Given the description of an element on the screen output the (x, y) to click on. 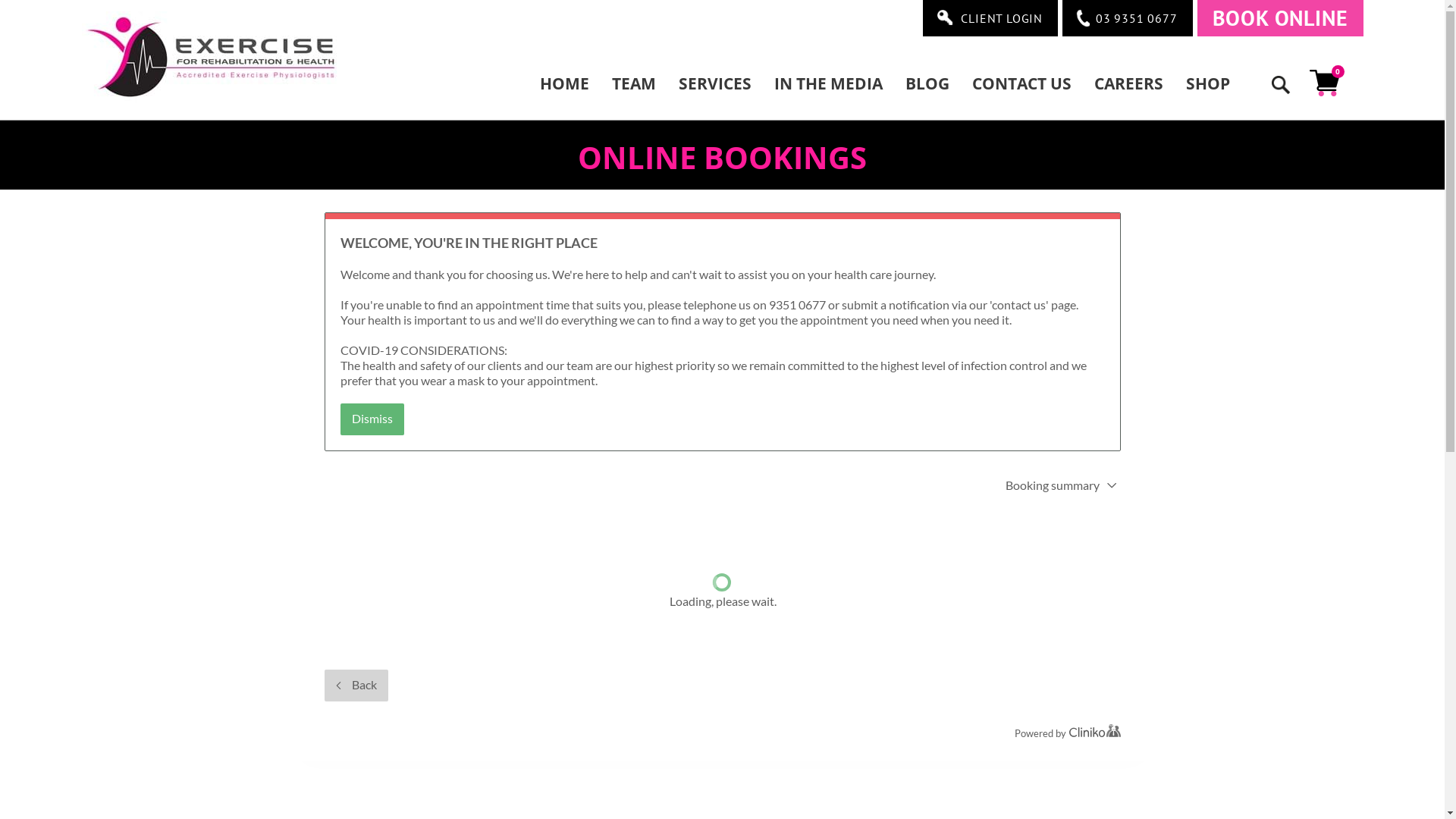
TEAM Element type: text (633, 83)
CONTACT US Element type: text (1021, 83)
SERVICES Element type: text (714, 83)
0 Element type: text (1325, 82)
SHOP Element type: text (1206, 83)
IN THE MEDIA Element type: text (828, 83)
BOOK ONLINE Element type: text (1280, 18)
CAREERS Element type: text (1128, 83)
HOME Element type: text (569, 83)
BLOG Element type: text (926, 83)
CLIENT LOGIN Element type: text (989, 18)
03 9351 0677 Element type: text (1127, 18)
